Given the description of an element on the screen output the (x, y) to click on. 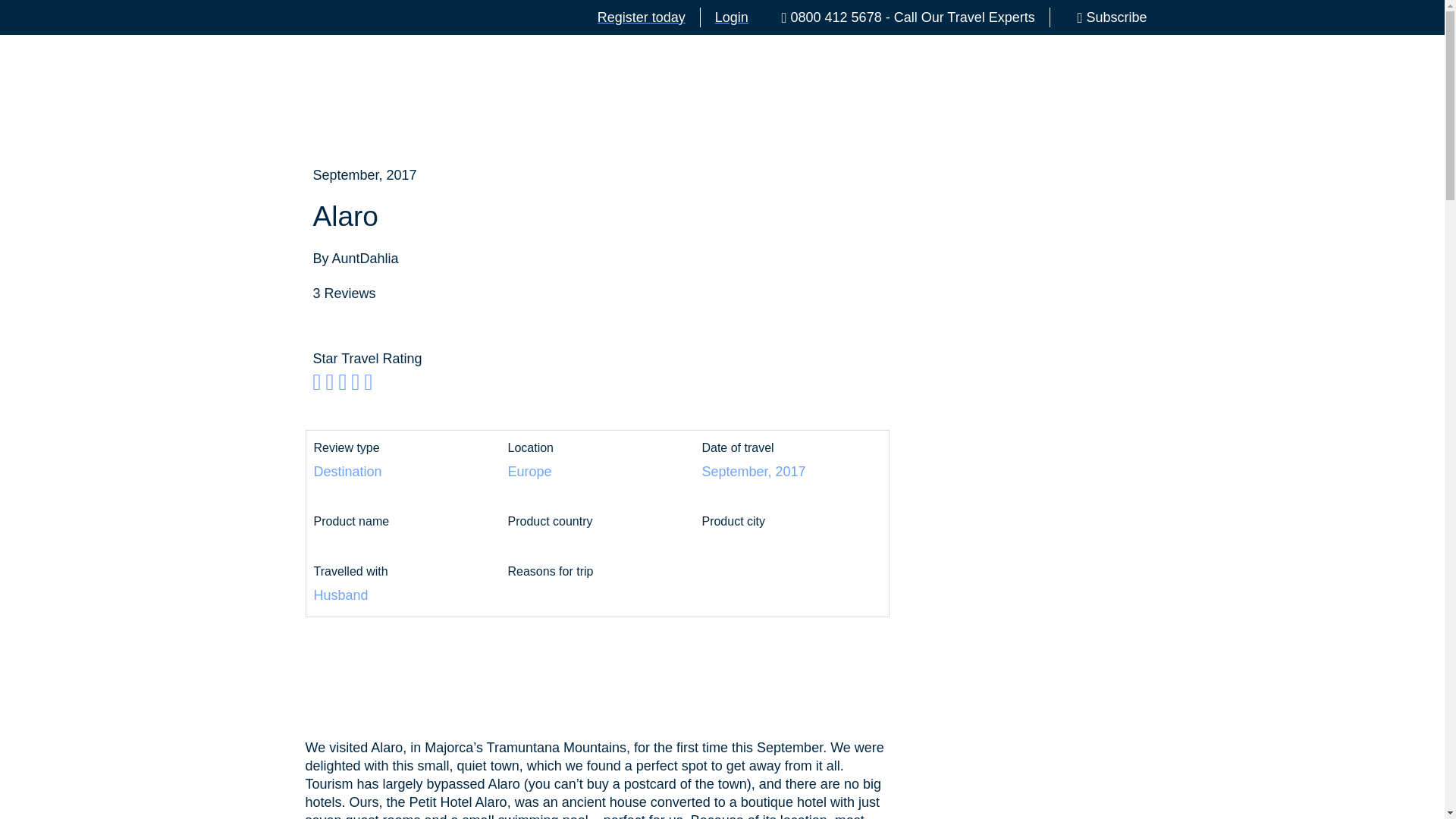
0800 412 5678 - Call Our Travel Experts (901, 17)
3rd party ad content (597, 689)
Register today (640, 17)
Login (731, 17)
Subscribe (1105, 17)
